Given the description of an element on the screen output the (x, y) to click on. 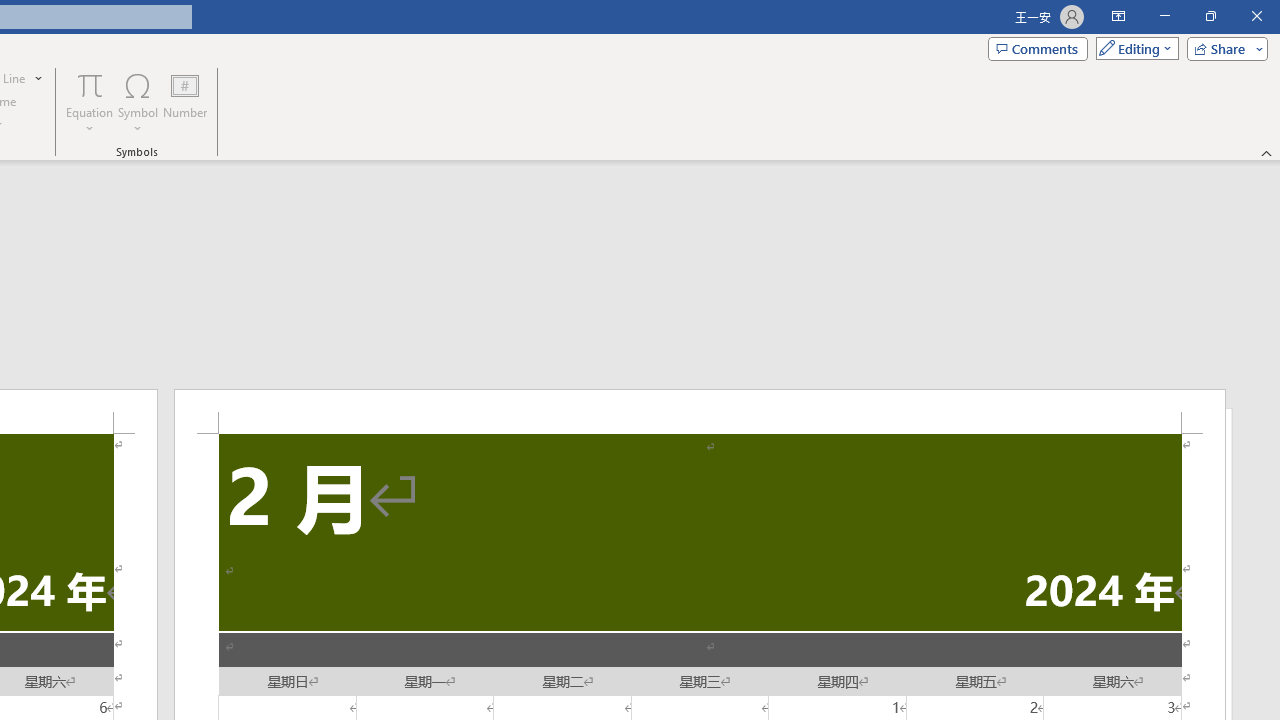
Ribbon Display Options (1118, 16)
More Options (90, 121)
Comments (1038, 48)
Mode (1133, 47)
Minimize (1164, 16)
Restore Down (1210, 16)
Header -Section 2- (700, 411)
Equation (90, 84)
Share (1223, 48)
Symbol (138, 102)
Number... (185, 102)
Close (1256, 16)
Collapse the Ribbon (1267, 152)
